Given the description of an element on the screen output the (x, y) to click on. 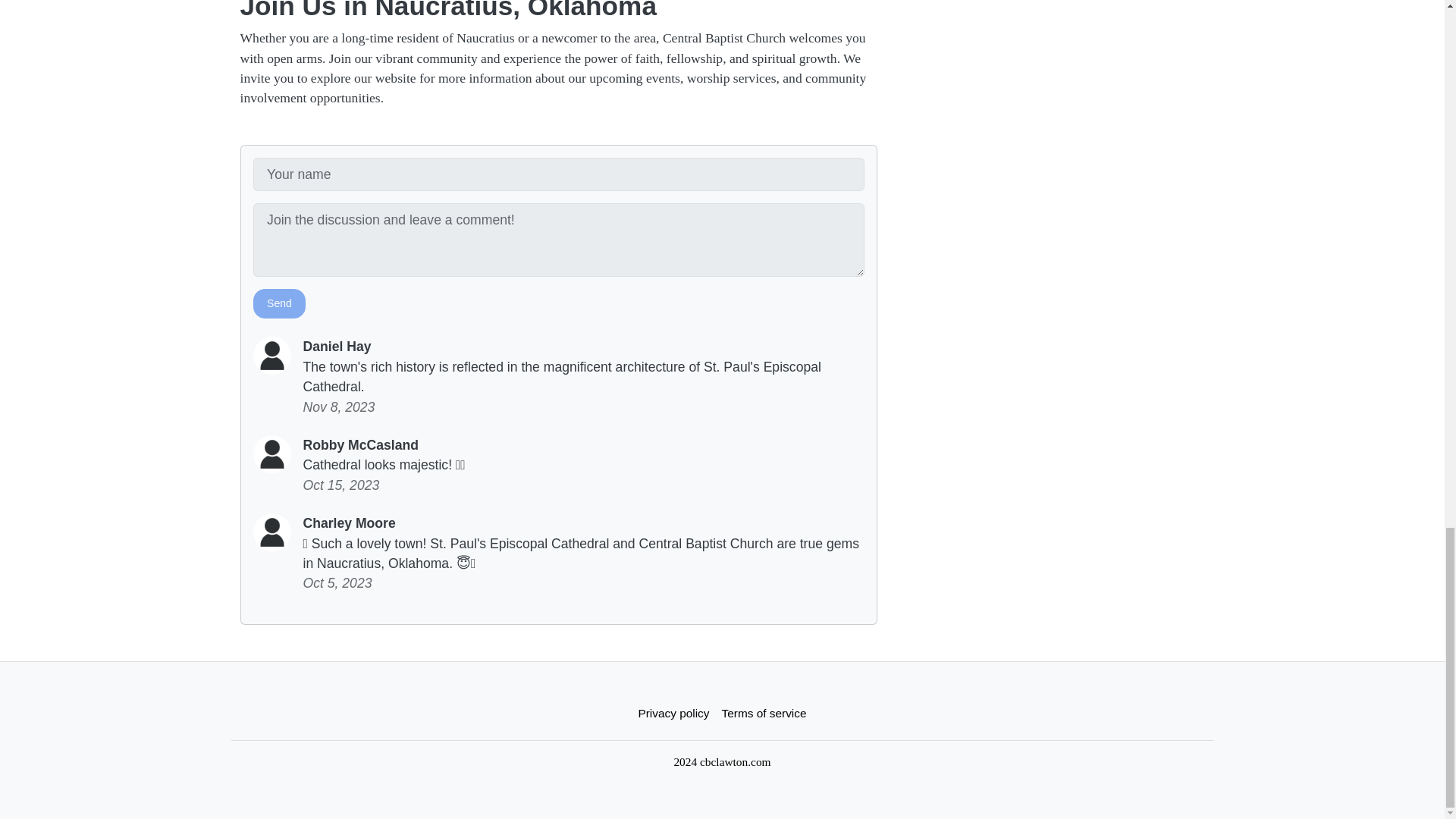
Send (279, 303)
Send (279, 303)
Privacy policy (672, 713)
Terms of service (764, 713)
